Given the description of an element on the screen output the (x, y) to click on. 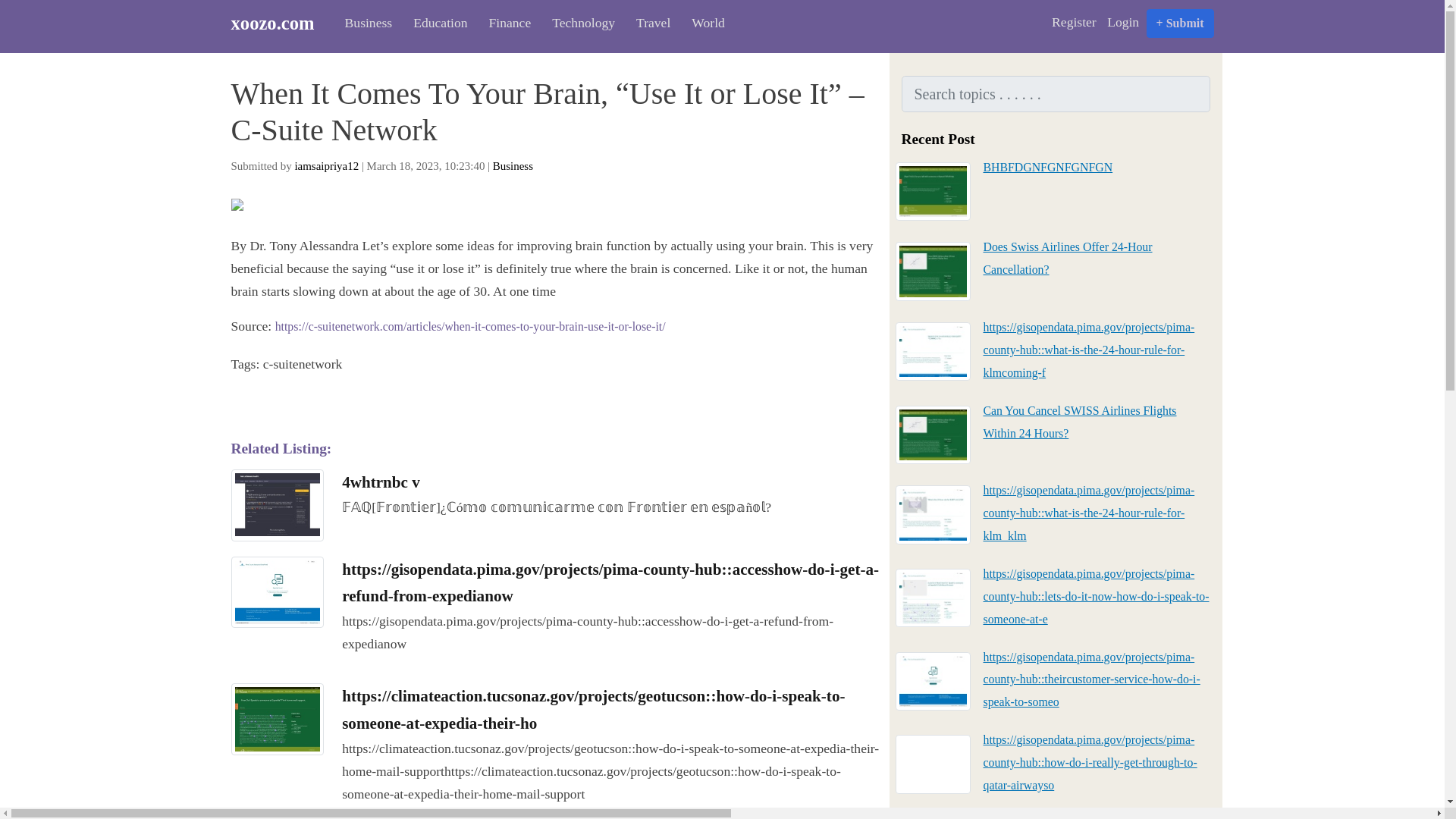
Finance (505, 22)
4whtrnbc v (276, 503)
iamsaipriya12 (326, 165)
BHBFDGNFGNFGNFGN (1047, 166)
4whtrnbc v (381, 482)
Technology (579, 22)
Finance (505, 22)
Travel (649, 22)
World (703, 22)
4whtrnbc v (381, 482)
